Given the description of an element on the screen output the (x, y) to click on. 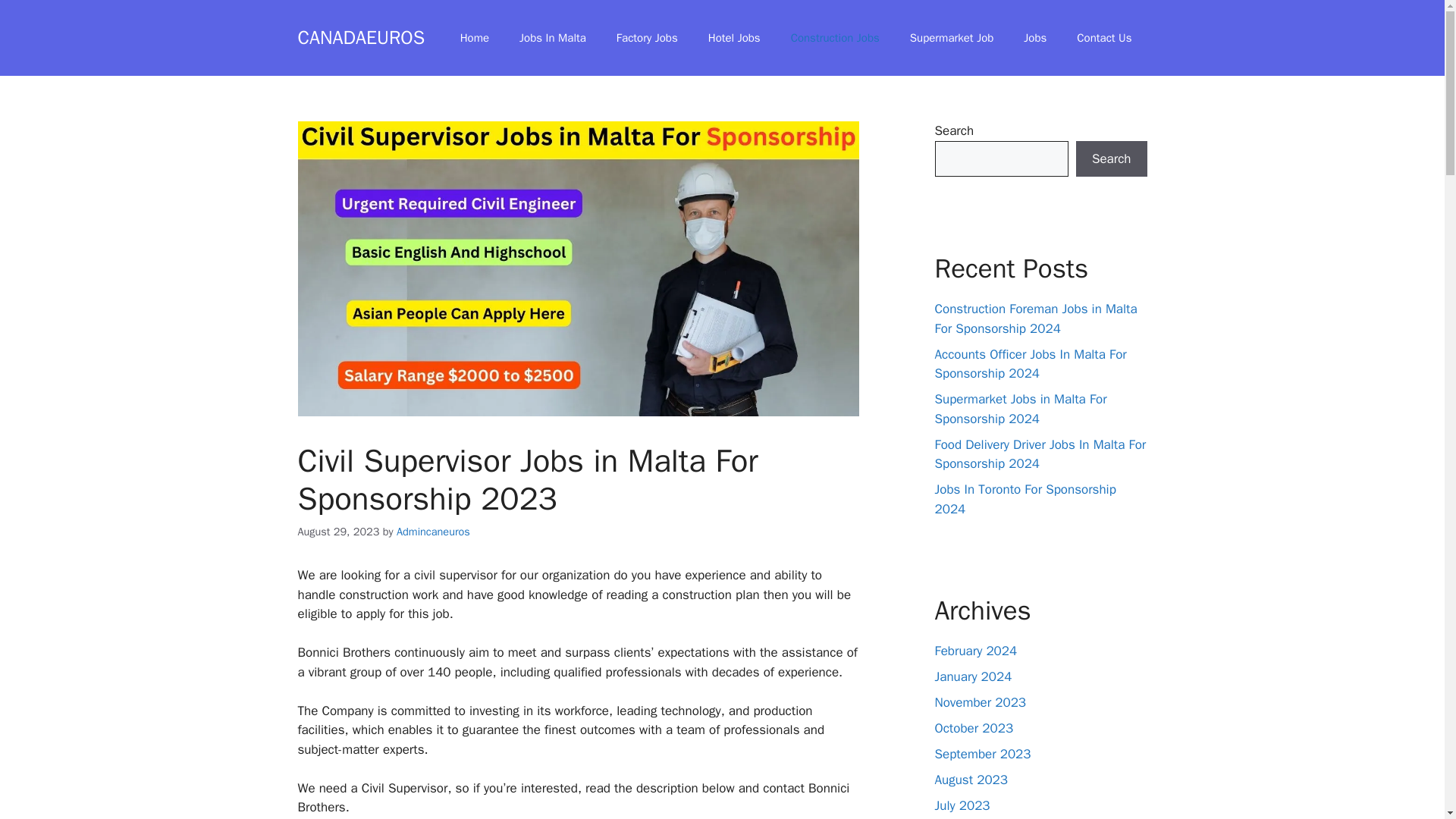
View all posts by Admincaneuros (433, 531)
Supermarket Jobs in Malta For Sponsorship 2024 (1020, 408)
Hotel Jobs (734, 37)
Jobs (1035, 37)
Home (474, 37)
Construction Jobs (835, 37)
Admincaneuros (433, 531)
Construction Foreman Jobs in Malta For Sponsorship 2024 (1035, 318)
Jobs In Malta (552, 37)
Factory Jobs (647, 37)
Accounts Officer Jobs In Malta For Sponsorship 2024 (1029, 363)
CANADAEUROS (361, 37)
Supermarket Job (952, 37)
Search (1111, 158)
Contact Us (1104, 37)
